Given the description of an element on the screen output the (x, y) to click on. 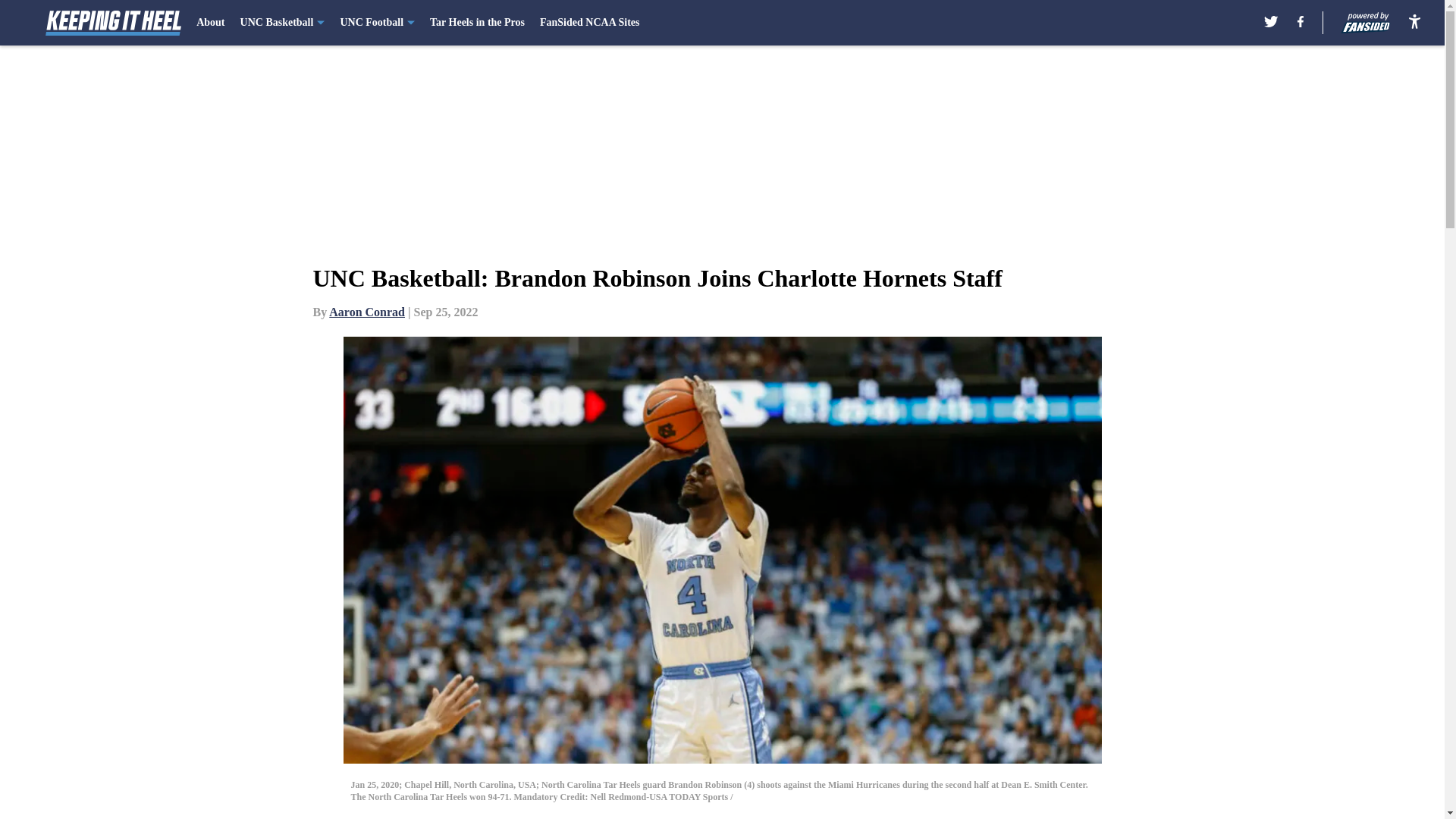
About (210, 22)
FanSided NCAA Sites (589, 22)
Tar Heels in the Pros (476, 22)
Aaron Conrad (366, 311)
